Given the description of an element on the screen output the (x, y) to click on. 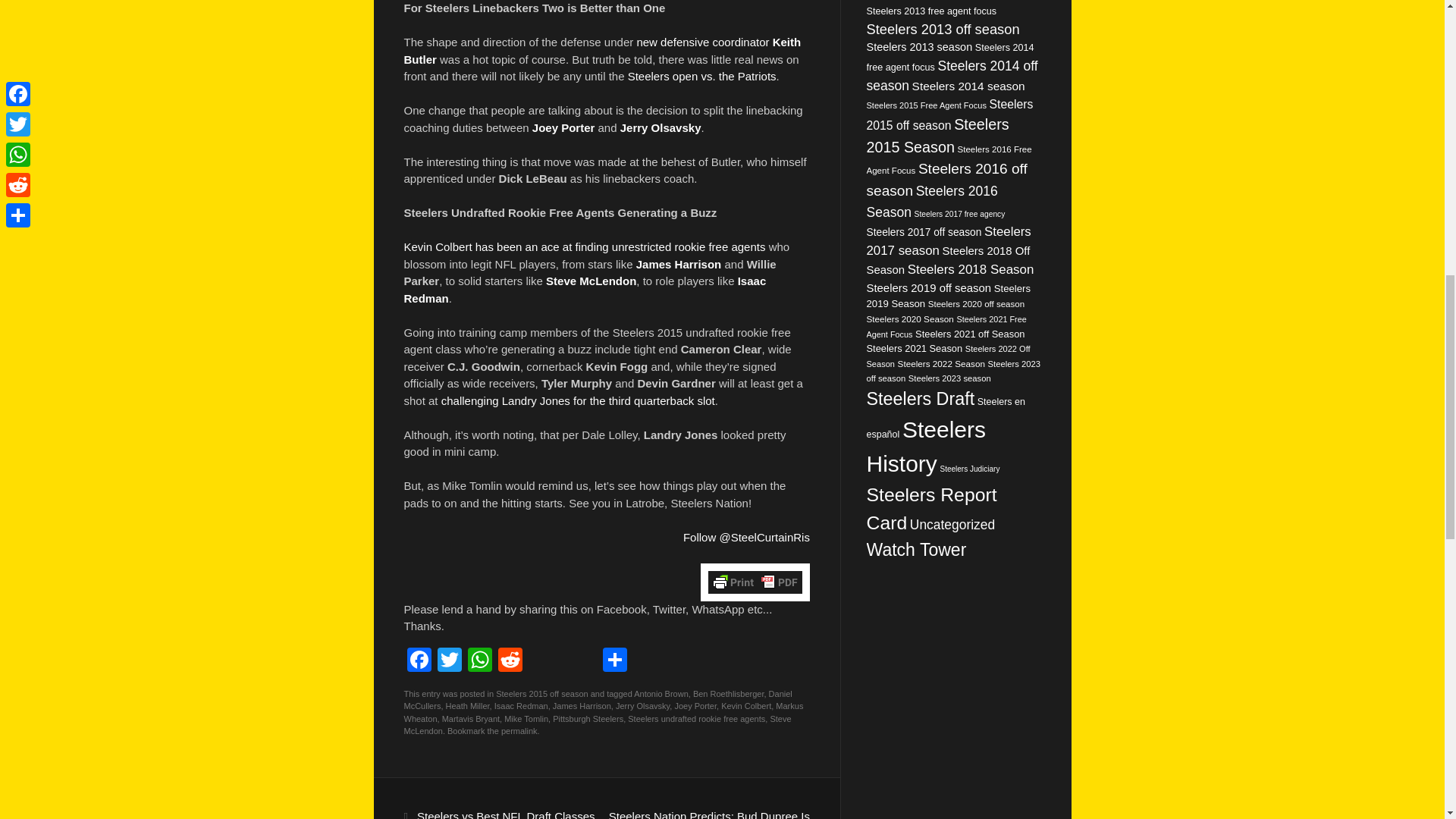
Joey Porter (563, 127)
Jerry Olsavsky (660, 127)
Facebook (418, 661)
Ben Roethlisberger (728, 692)
Reddit (509, 661)
Isaac Redman (584, 289)
Twitter (448, 661)
Steelers open vs. the Patriots (701, 75)
Steelers 2015 off season (542, 692)
Heath Miller (467, 705)
